Given the description of an element on the screen output the (x, y) to click on. 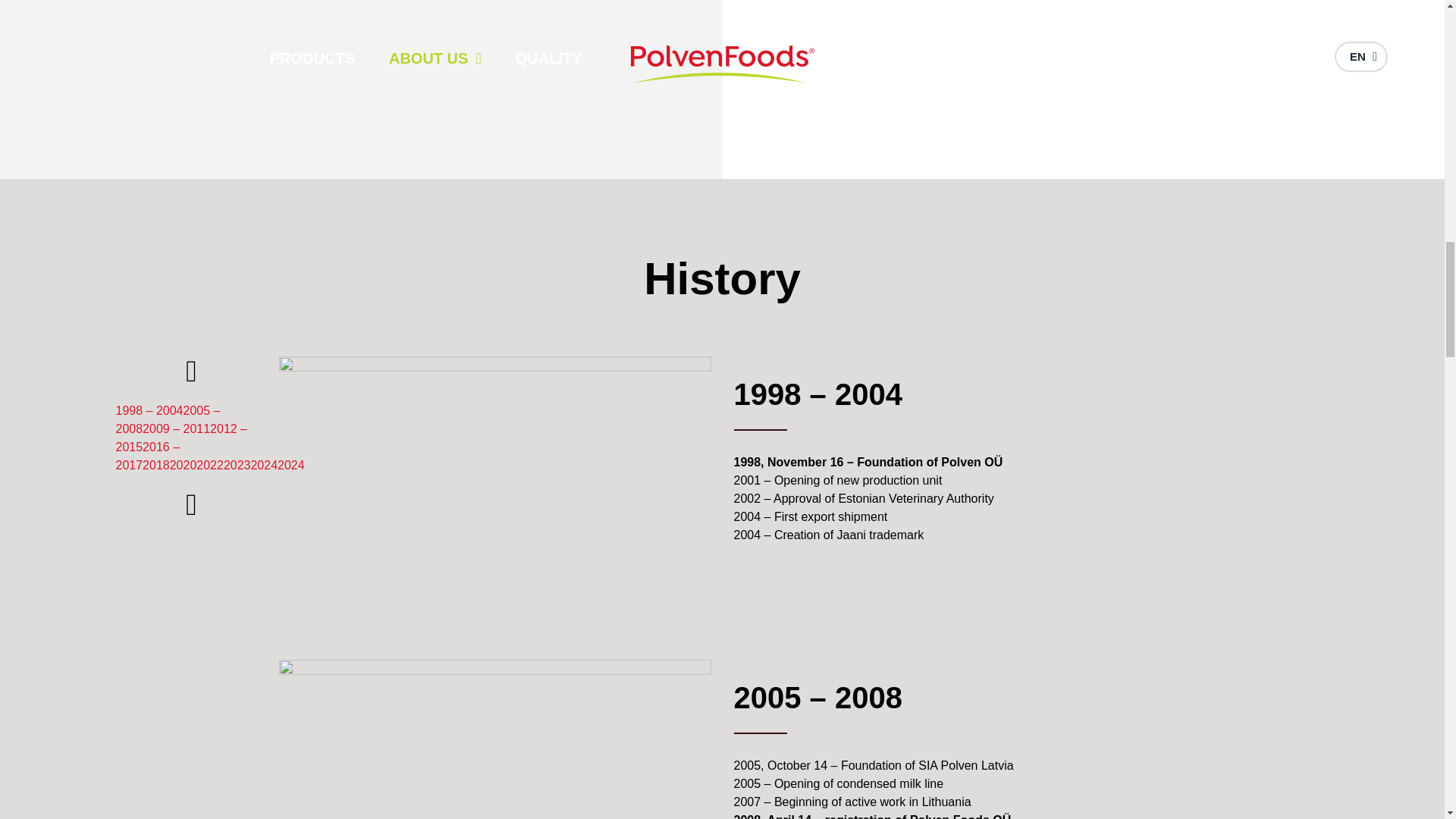
2020 (183, 464)
2022 (210, 464)
2024 (264, 464)
2024 (291, 464)
2018 (156, 464)
2023 (237, 464)
